Given the description of an element on the screen output the (x, y) to click on. 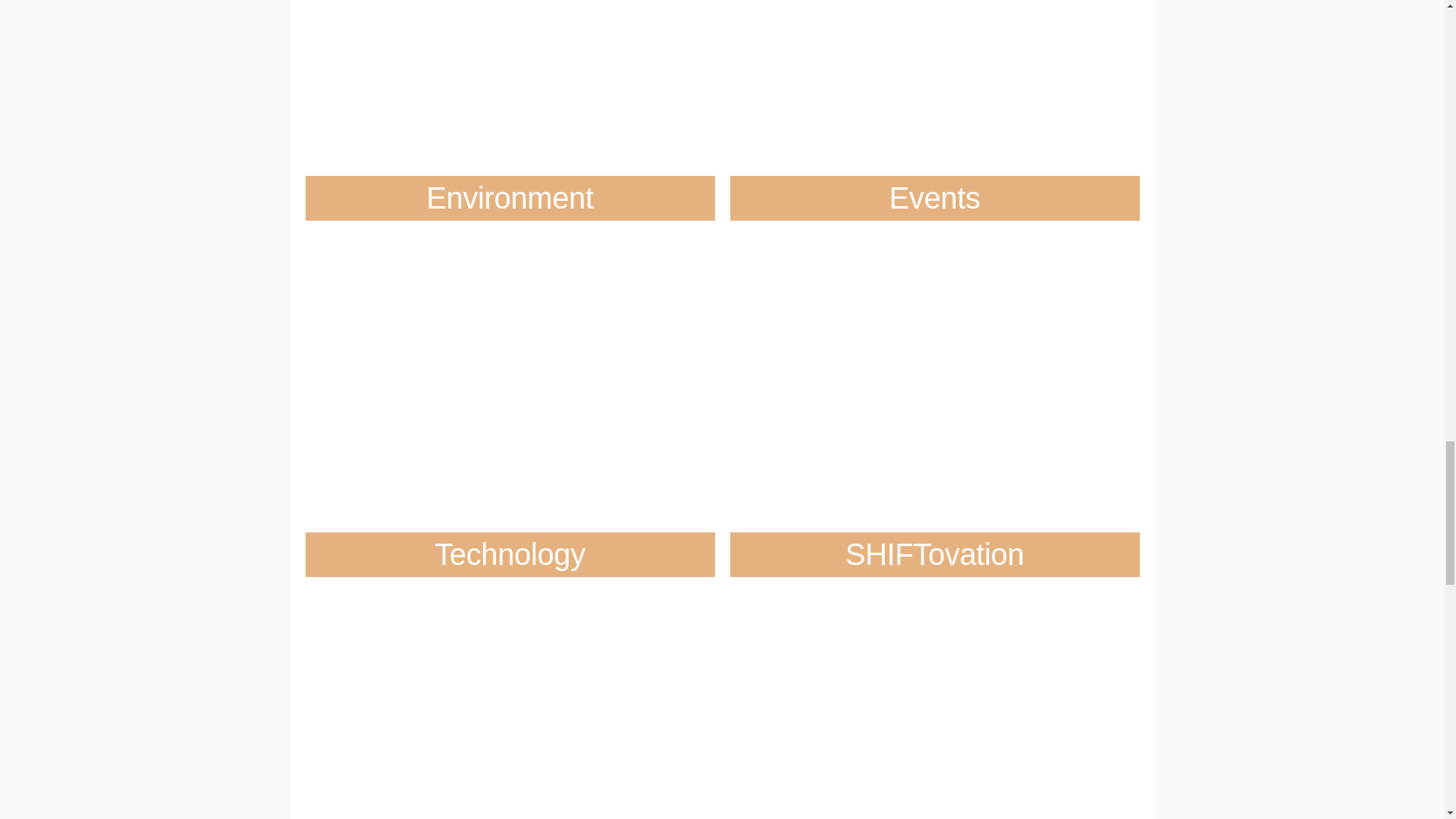
pilot 1 (513, 50)
pilot 2 (938, 50)
